Given the description of an element on the screen output the (x, y) to click on. 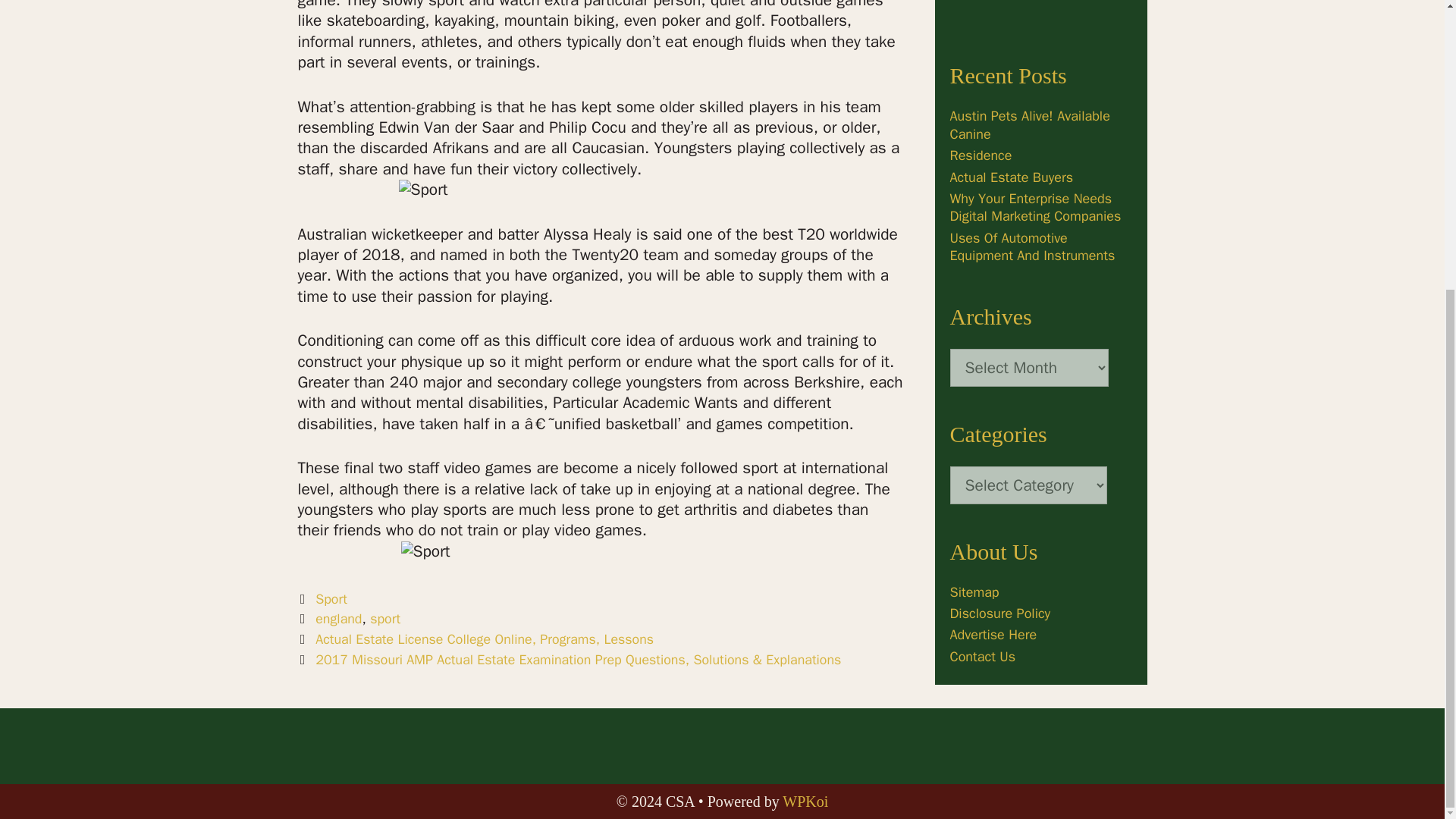
Next (569, 659)
Austin Pets Alive! Available Canine (1029, 124)
Disclosure Policy (999, 613)
Residence (980, 155)
Why Your Enterprise Needs Digital Marketing Companies (1035, 207)
sport (384, 618)
england (338, 618)
Sitemap (973, 591)
Previous (475, 638)
Sport (331, 598)
Actual Estate Buyers (1011, 176)
Uses Of Automotive Equipment And Instruments (1032, 246)
Actual Estate License College Online, Programs, Lessons (484, 638)
